Given the description of an element on the screen output the (x, y) to click on. 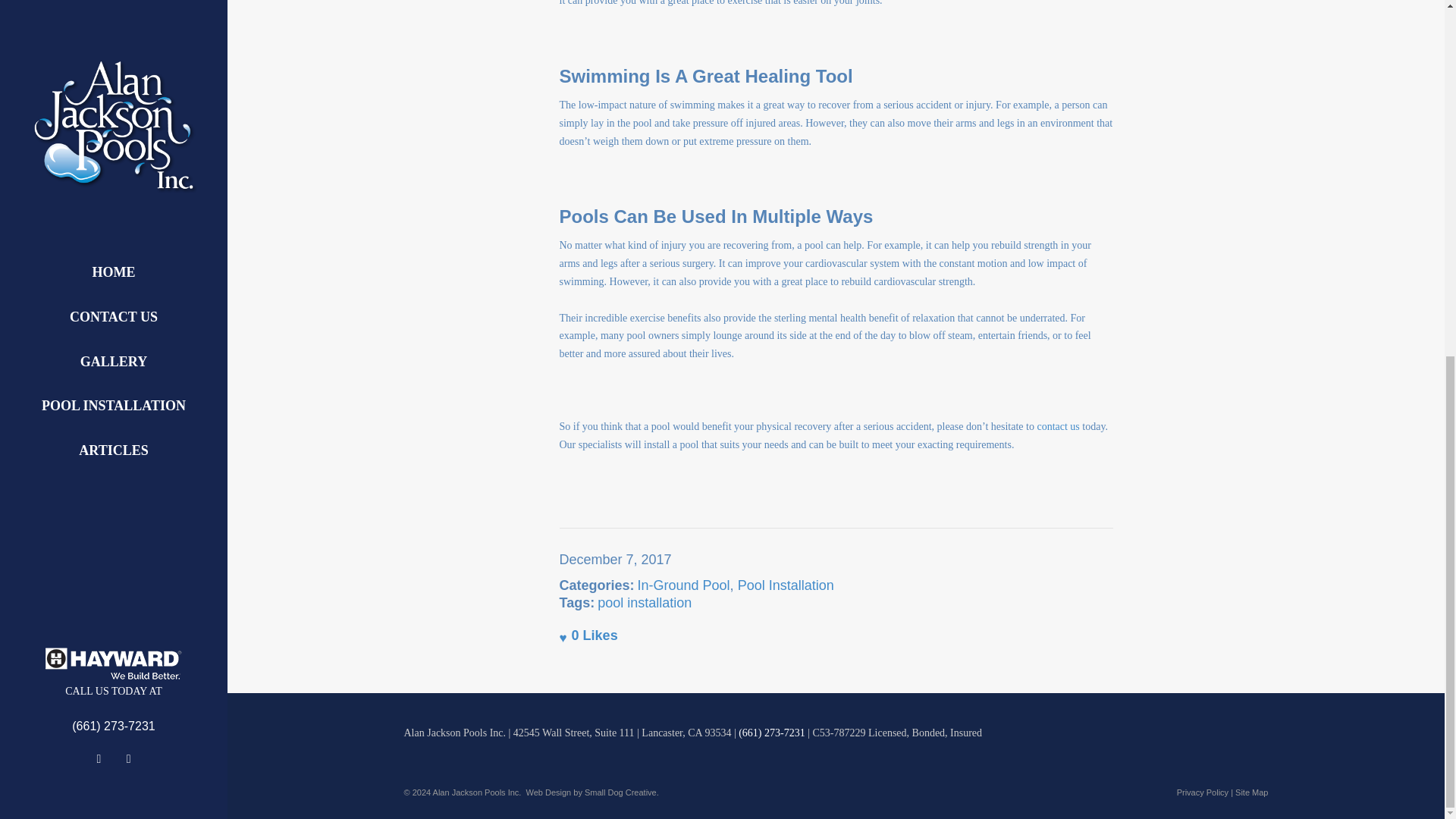
0 Likes (588, 635)
pool installation (643, 602)
Pool Installation (786, 585)
In-Ground Pool (683, 585)
Privacy Policy (1202, 791)
Site Map (1251, 791)
Site Map (1251, 791)
Privacy Policy (1202, 791)
contact us (1057, 426)
Web Design by Small Dog Creative (590, 791)
